Given the description of an element on the screen output the (x, y) to click on. 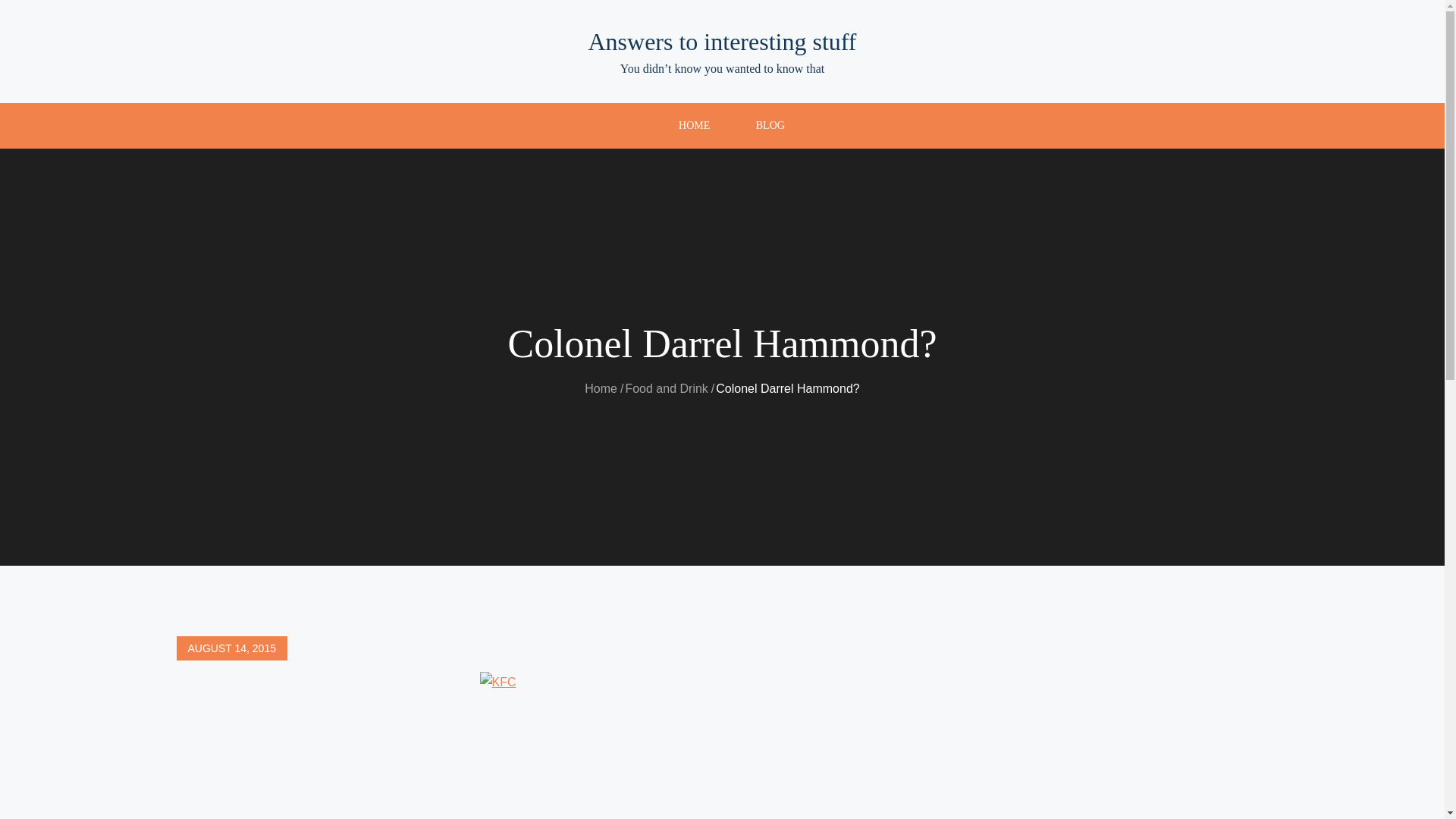
BLOG (770, 125)
HOME (694, 125)
Answers to interesting stuff (722, 41)
Food and Drink (665, 388)
Home (601, 388)
AUGUST 14, 2015 (231, 648)
